Given the description of an element on the screen output the (x, y) to click on. 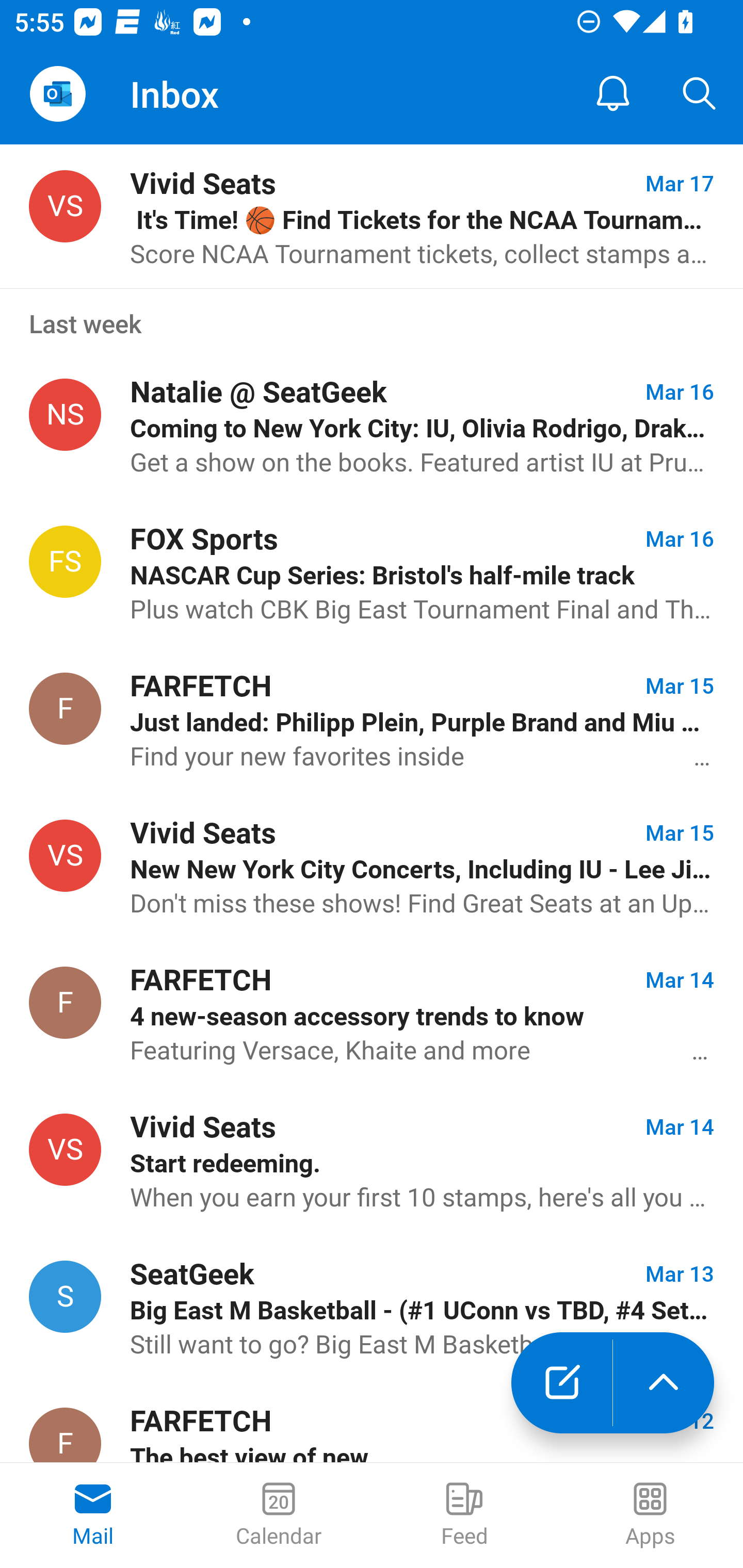
Notification Center (612, 93)
Search, ,  (699, 93)
Open Navigation Drawer (57, 94)
Vivid Seats, tickets@live.vividseats.com (64, 206)
Natalie @ SeatGeek, events@seatgeek.com (64, 414)
FOX Sports, email@inbox.foxsports.com (64, 561)
FARFETCH, farfetch@email.farfetch.com (64, 708)
Vivid Seats, tickets@live.vividseats.com (64, 856)
FARFETCH, farfetch@email.farfetch.com (64, 1001)
Vivid Seats, tickets@live.vividseats.com (64, 1149)
SeatGeek, events@seatgeek.com (64, 1296)
New mail (561, 1382)
launch the extended action menu (663, 1382)
FARFETCH, farfetch@email.farfetch.com (64, 1435)
Calendar (278, 1515)
Feed (464, 1515)
Apps (650, 1515)
